Given the description of an element on the screen output the (x, y) to click on. 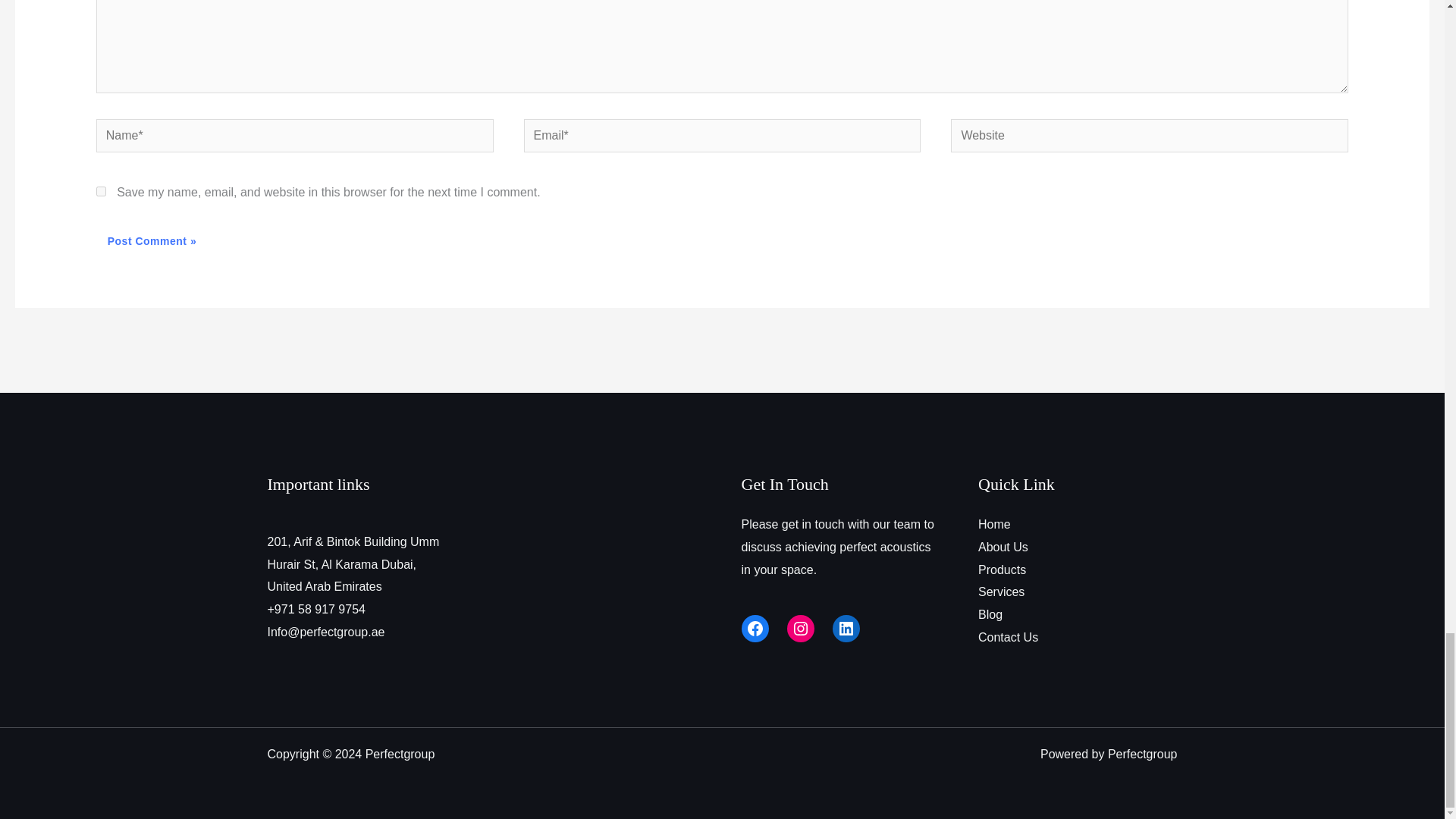
About Us (1002, 546)
Instagram (800, 628)
yes (101, 191)
Products (1002, 569)
Home (994, 523)
LinkedIn (846, 628)
Services (1001, 591)
Facebook (754, 628)
Contact Us (1008, 636)
Blog (990, 614)
